Given the description of an element on the screen output the (x, y) to click on. 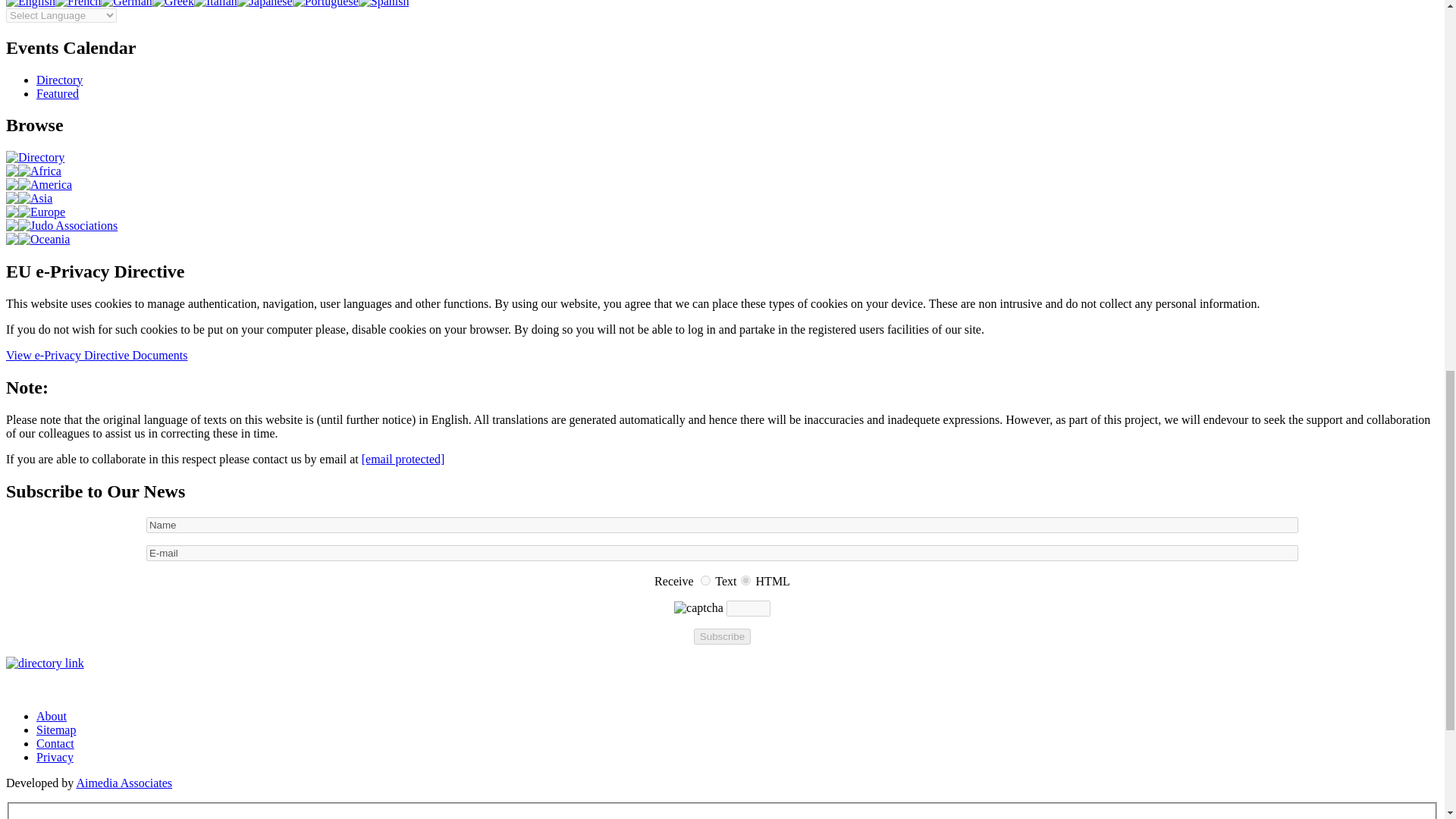
Portuguese (325, 3)
Please enter the security code displayed in the image (698, 608)
Japanese (264, 3)
0 (705, 580)
English (30, 3)
Italian (215, 3)
Name (722, 524)
Please enter the security code displayed in the image (748, 608)
Receive (705, 580)
Spanish (383, 3)
French (77, 3)
Greek (172, 3)
Name (722, 524)
E-mail (722, 553)
German (126, 3)
